Given the description of an element on the screen output the (x, y) to click on. 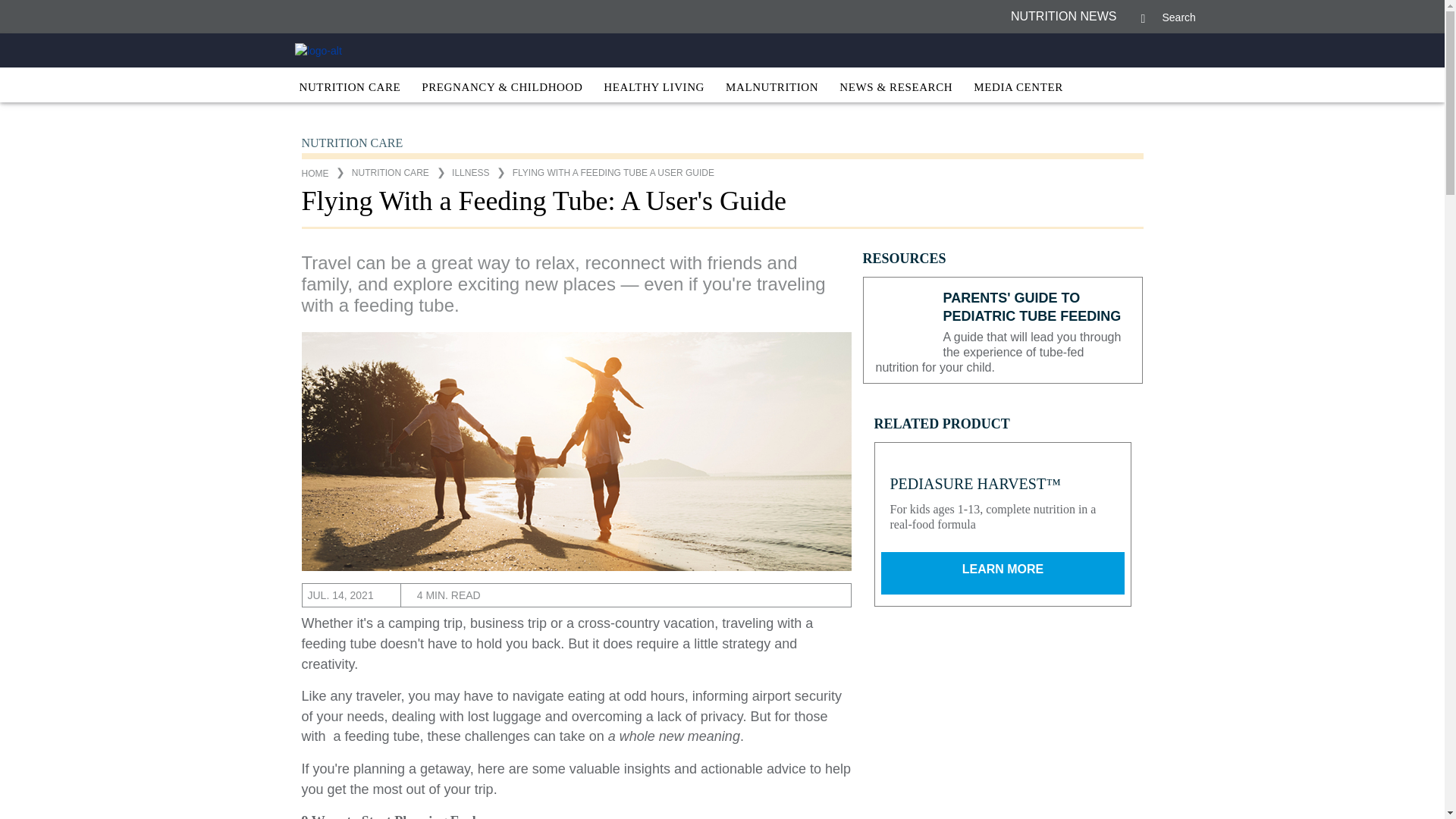
NUTRITION NEWS (1063, 16)
NUTRITION CARE (349, 89)
ILLNESS (470, 172)
HOME (315, 173)
MALNUTRITION (771, 89)
HEALTHY LIVING (654, 89)
MEDIA CENTER (1018, 89)
NUTRITION CARE (390, 172)
